Given the description of an element on the screen output the (x, y) to click on. 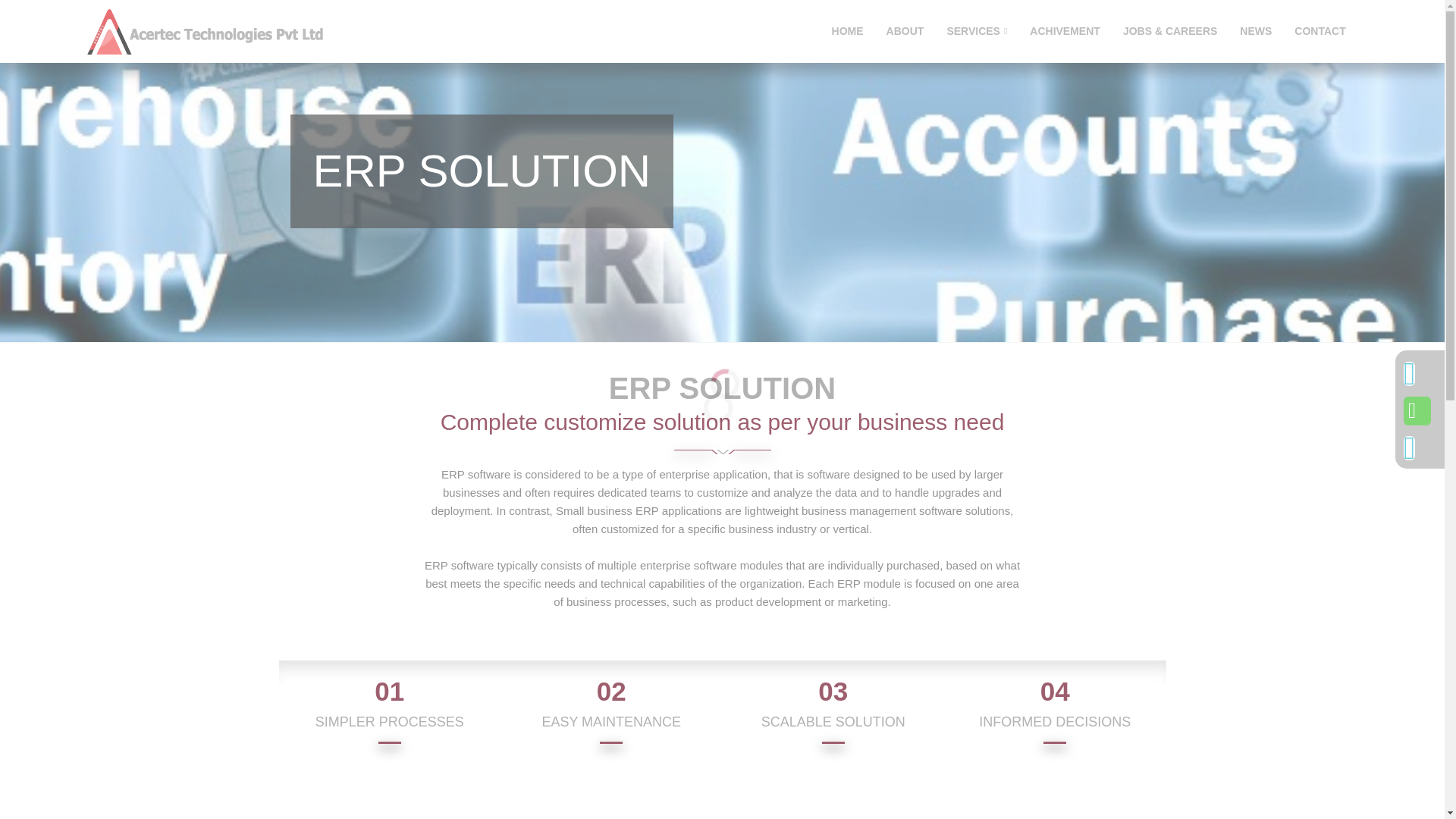
CONTACT (1319, 31)
ACHIVEMENT (1064, 31)
SERVICES (975, 31)
ABOUT (905, 31)
